Given the description of an element on the screen output the (x, y) to click on. 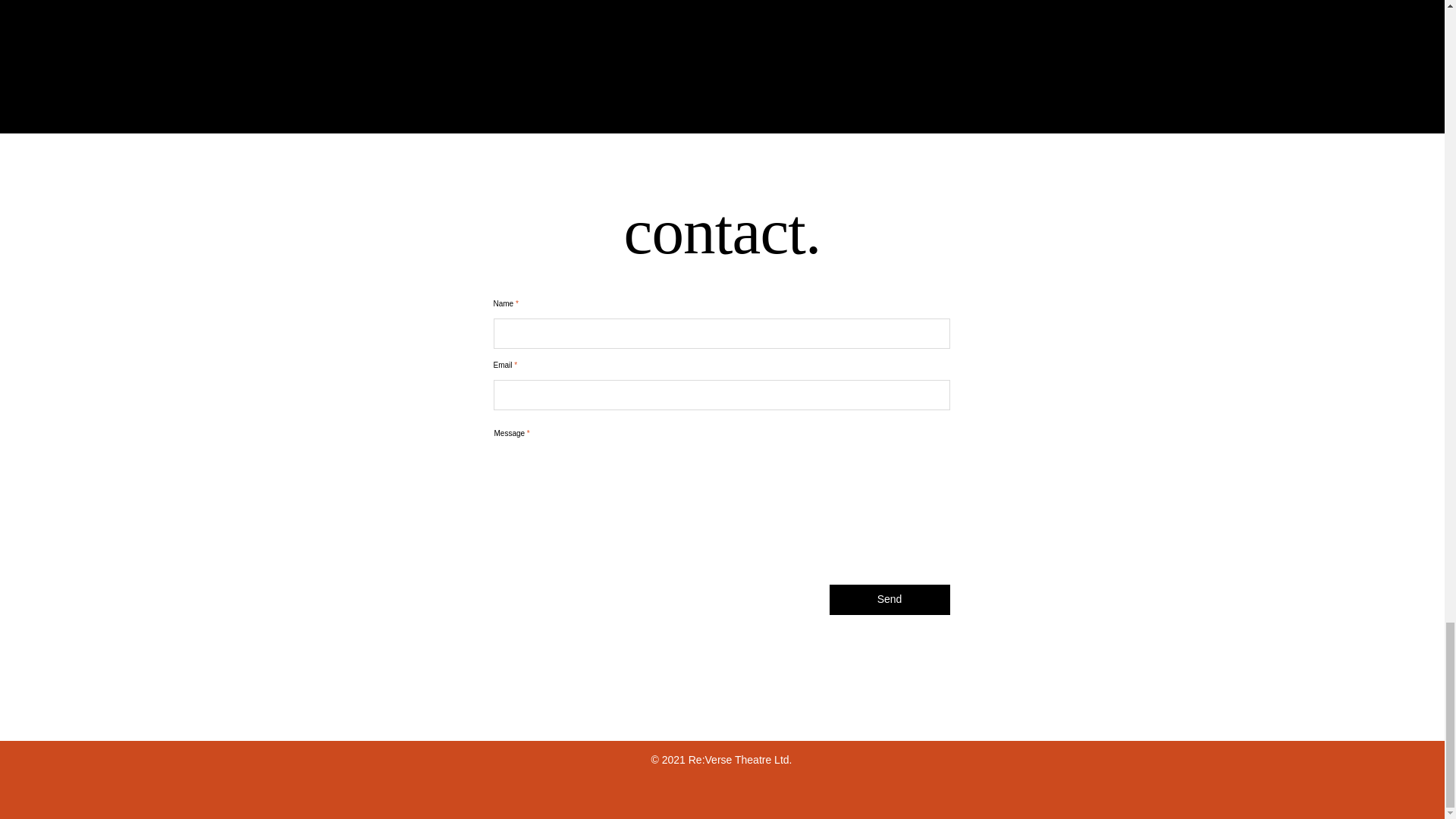
Send (889, 599)
